Given the description of an element on the screen output the (x, y) to click on. 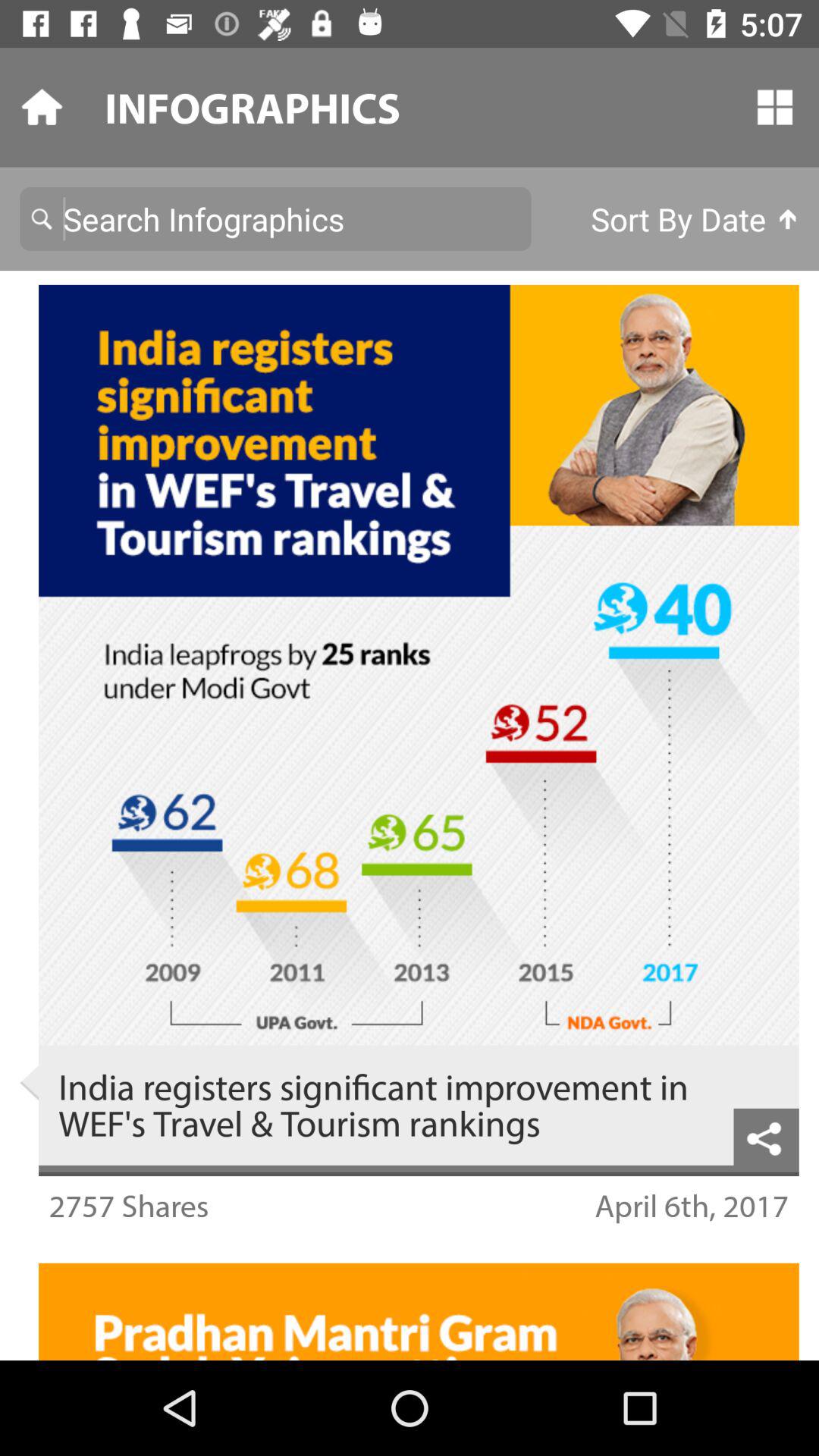
share the bluetooth (766, 1136)
